Given the description of an element on the screen output the (x, y) to click on. 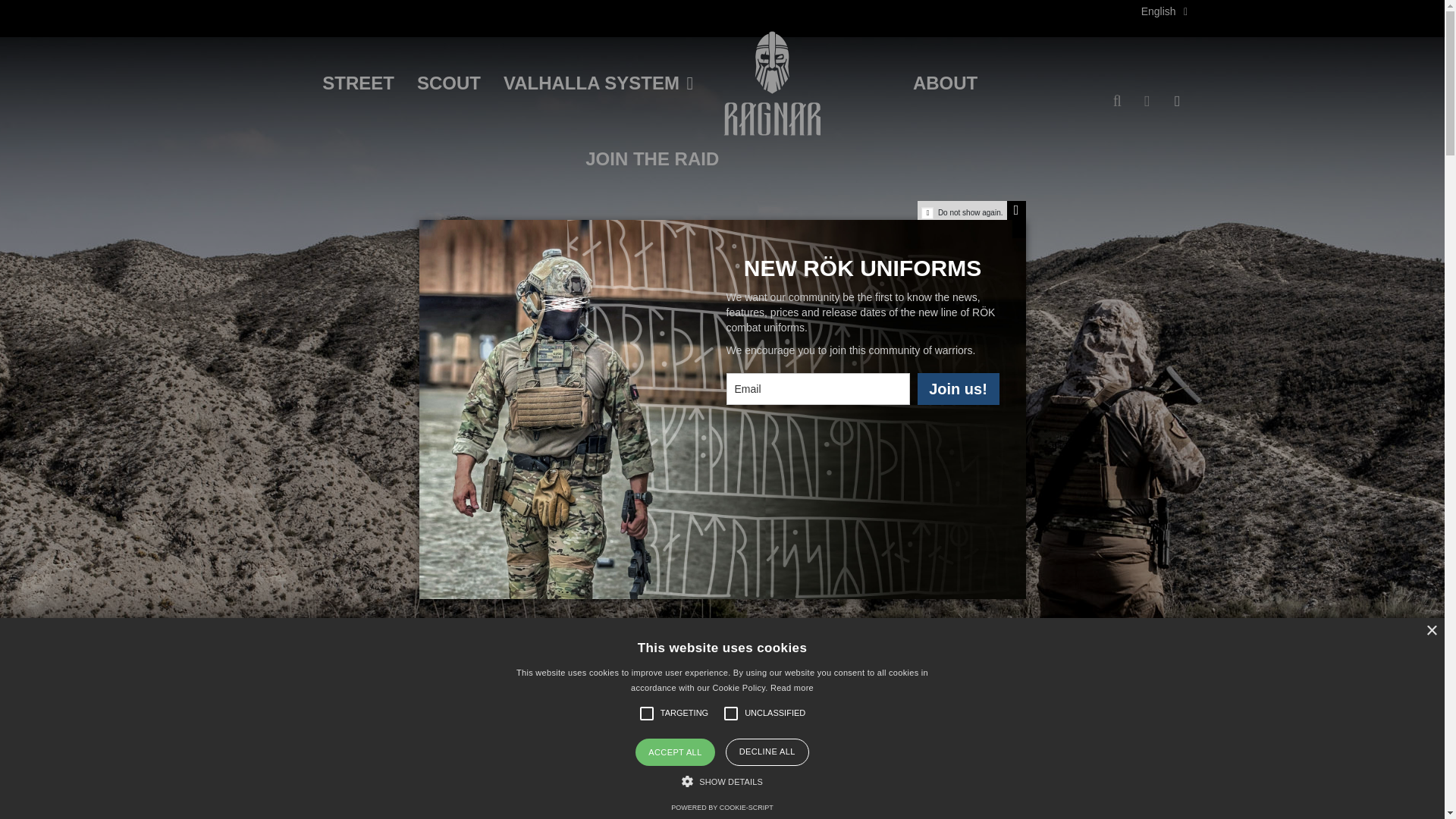
VALHALLA SYSTEM (567, 83)
Close window (1016, 210)
JOIN THE RAID (649, 159)
STREET (358, 83)
Log in to your customer account (1147, 101)
ABOUT (944, 83)
English (1166, 10)
SCOUT (449, 83)
